Given the description of an element on the screen output the (x, y) to click on. 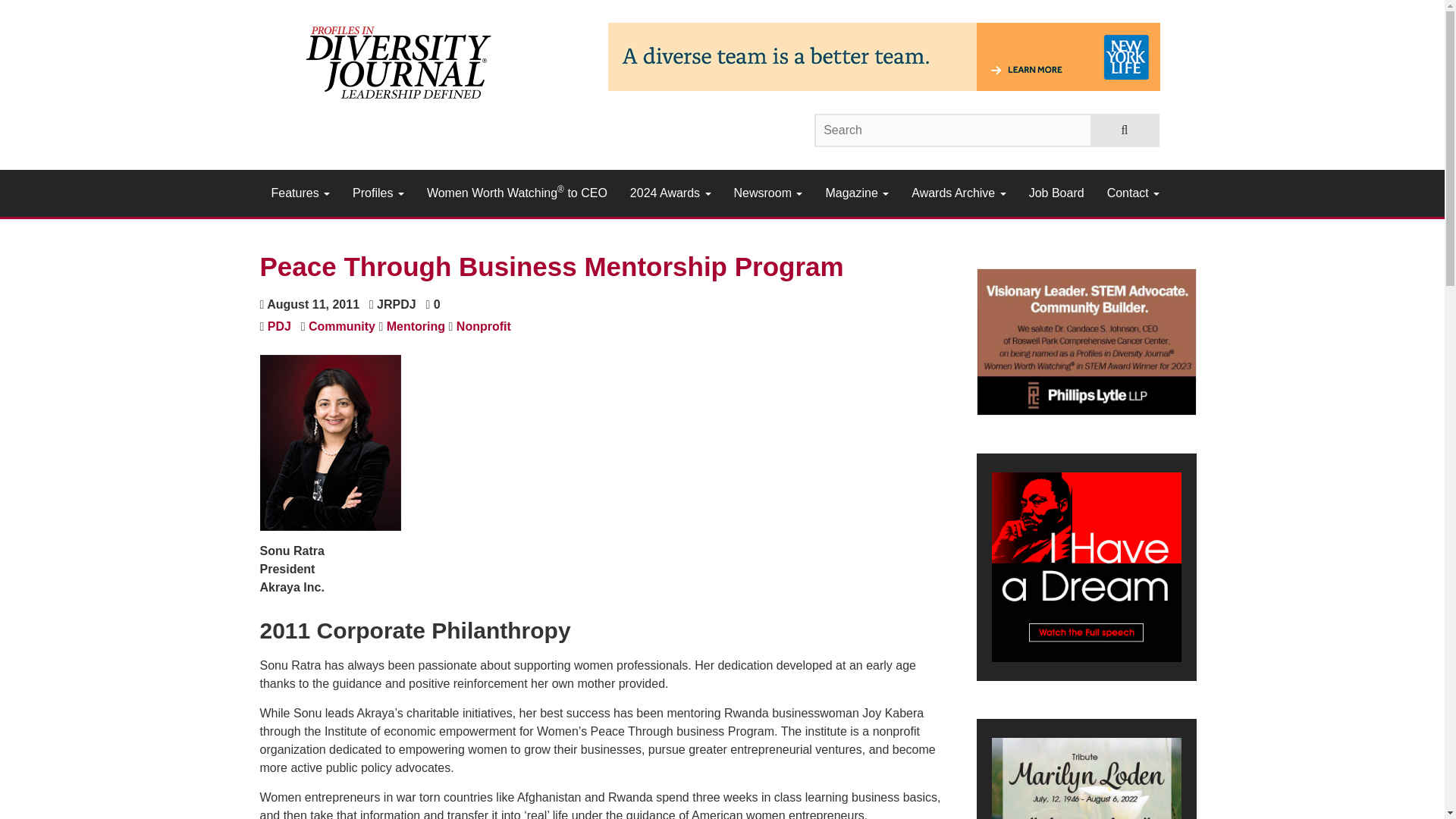
Profiles (377, 193)
Profiles (377, 193)
Features (299, 193)
Newsroom (767, 193)
2024 Awards (670, 193)
Features (299, 193)
